Given the description of an element on the screen output the (x, y) to click on. 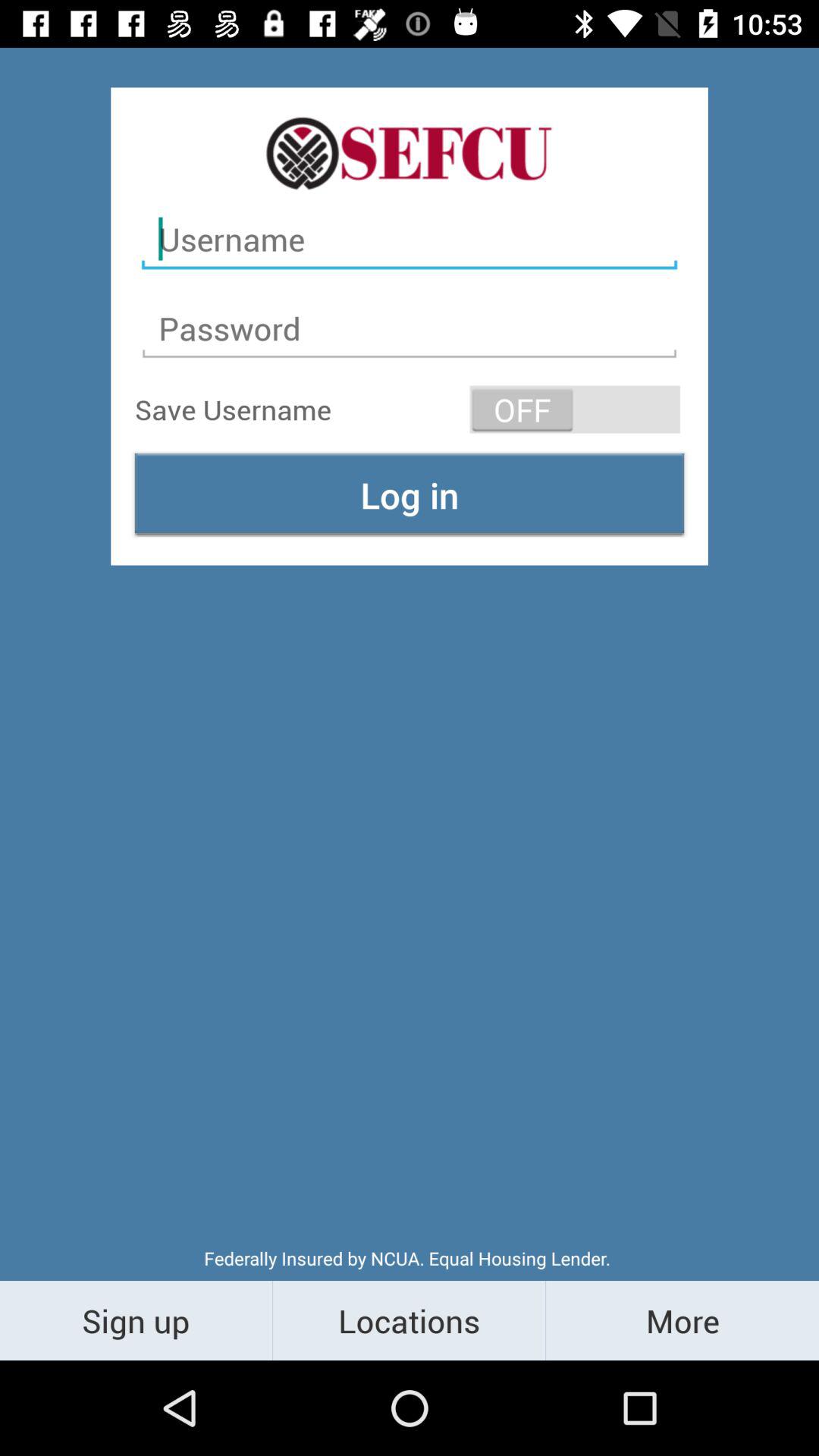
click item below federally insured by item (409, 1320)
